Given the description of an element on the screen output the (x, y) to click on. 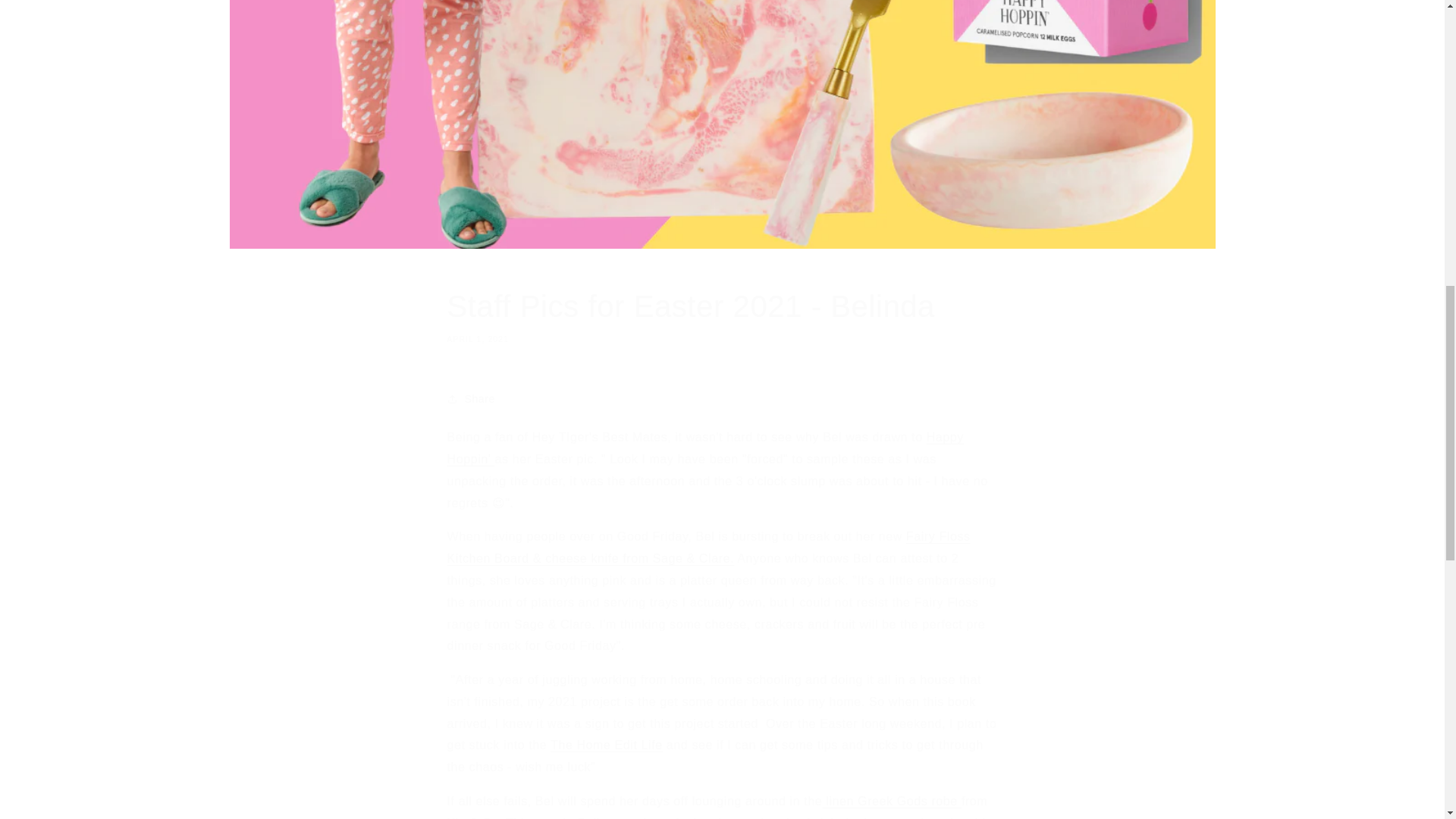
Share (721, 314)
The Home Edit Life (721, 398)
Hey Tiger Happy Hoppin' available at npj living (606, 744)
